Given the description of an element on the screen output the (x, y) to click on. 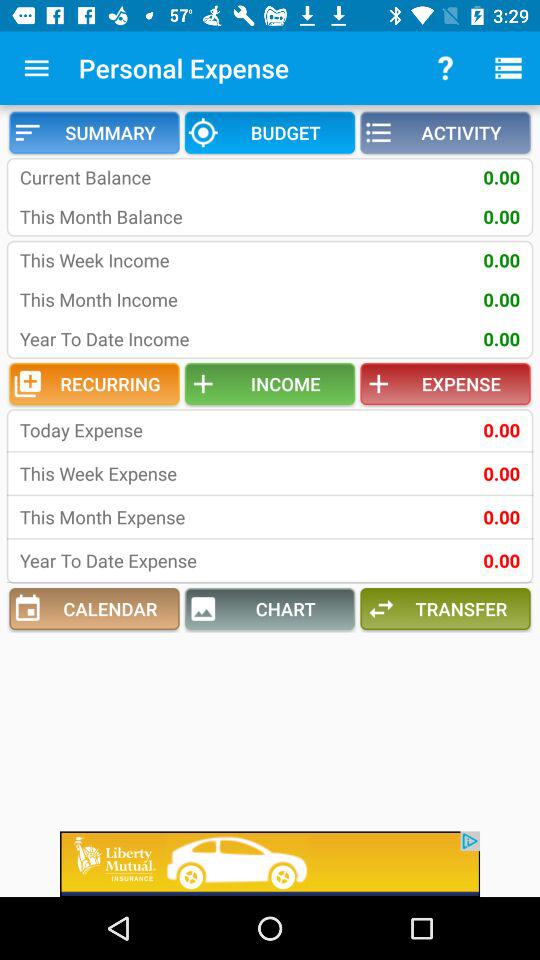
advertisement (270, 864)
